Given the description of an element on the screen output the (x, y) to click on. 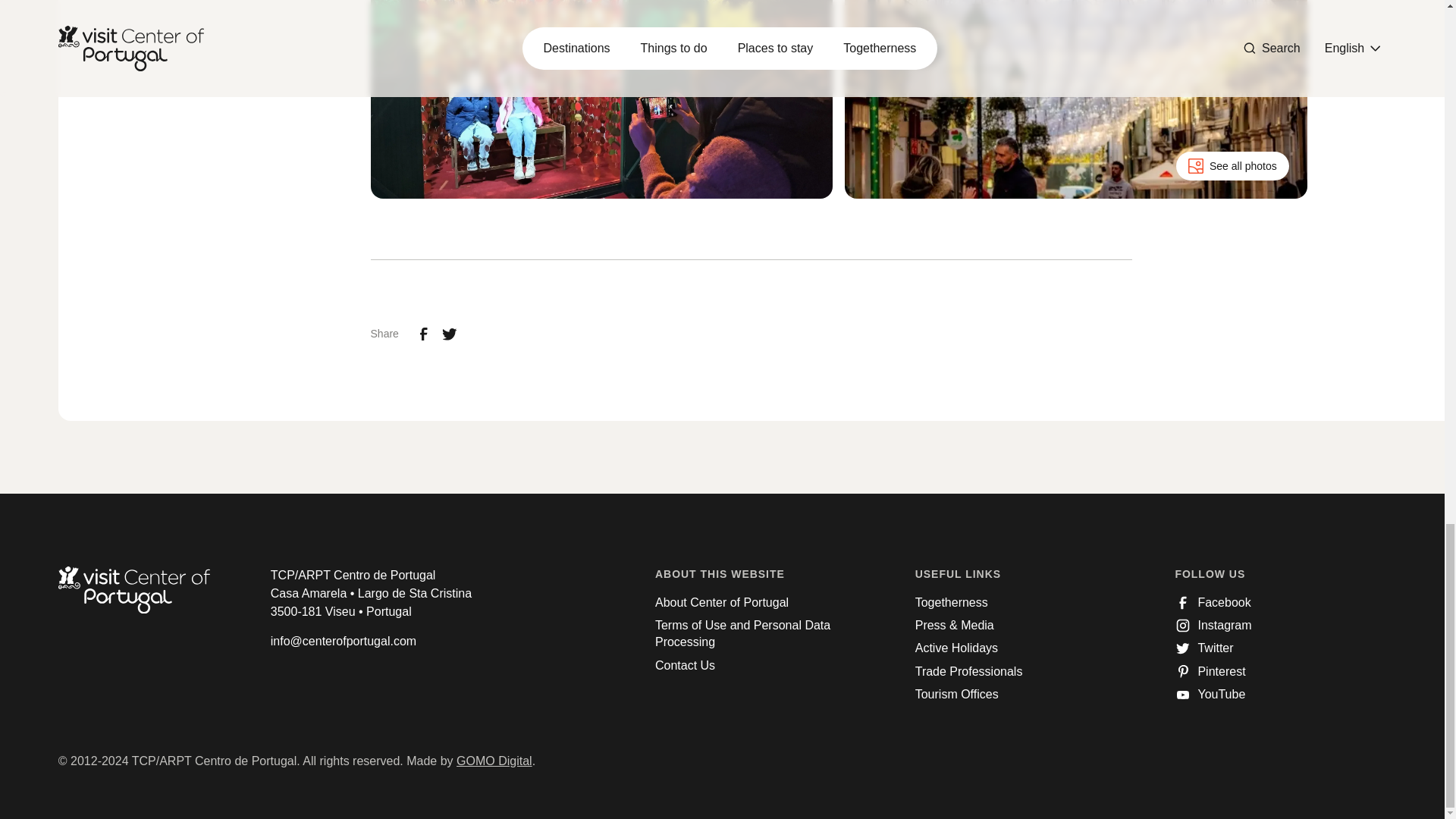
Active Holidays (956, 647)
Tourism Offices (956, 694)
Terms of Use and Personal Data Processing (760, 634)
Contact Us (684, 665)
Trade Professionals (969, 671)
Instagram (1212, 625)
Twitter (1203, 647)
See all photos (1232, 165)
Togetherness (951, 602)
About Center of Portugal (722, 602)
Facebook (1212, 602)
